Given the description of an element on the screen output the (x, y) to click on. 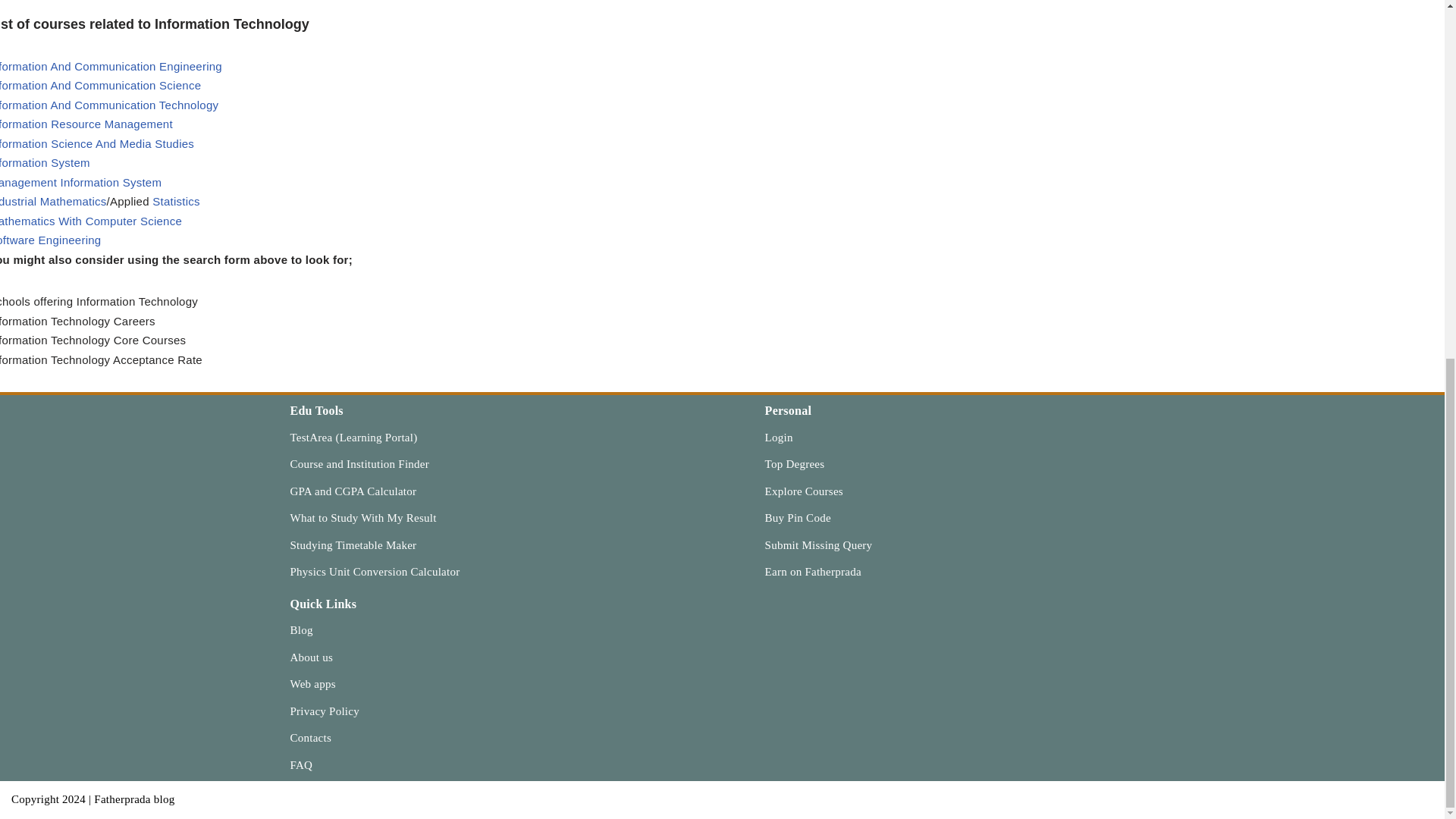
Studying Timetable Maker (352, 544)
Computer Science (133, 220)
Course and Institution Finder (359, 463)
Software Engineering (50, 239)
Mathematics With (42, 220)
GPA and CGPA Calculator (352, 491)
Mathematics (73, 201)
Information And (37, 104)
Statistics (176, 201)
Physics Unit Conversion Calculator (374, 571)
Management Information System (80, 182)
Information System (45, 162)
Information Science And Media Studies (96, 143)
Information Resource Management (86, 123)
Information And Communication Science (100, 84)
